Given the description of an element on the screen output the (x, y) to click on. 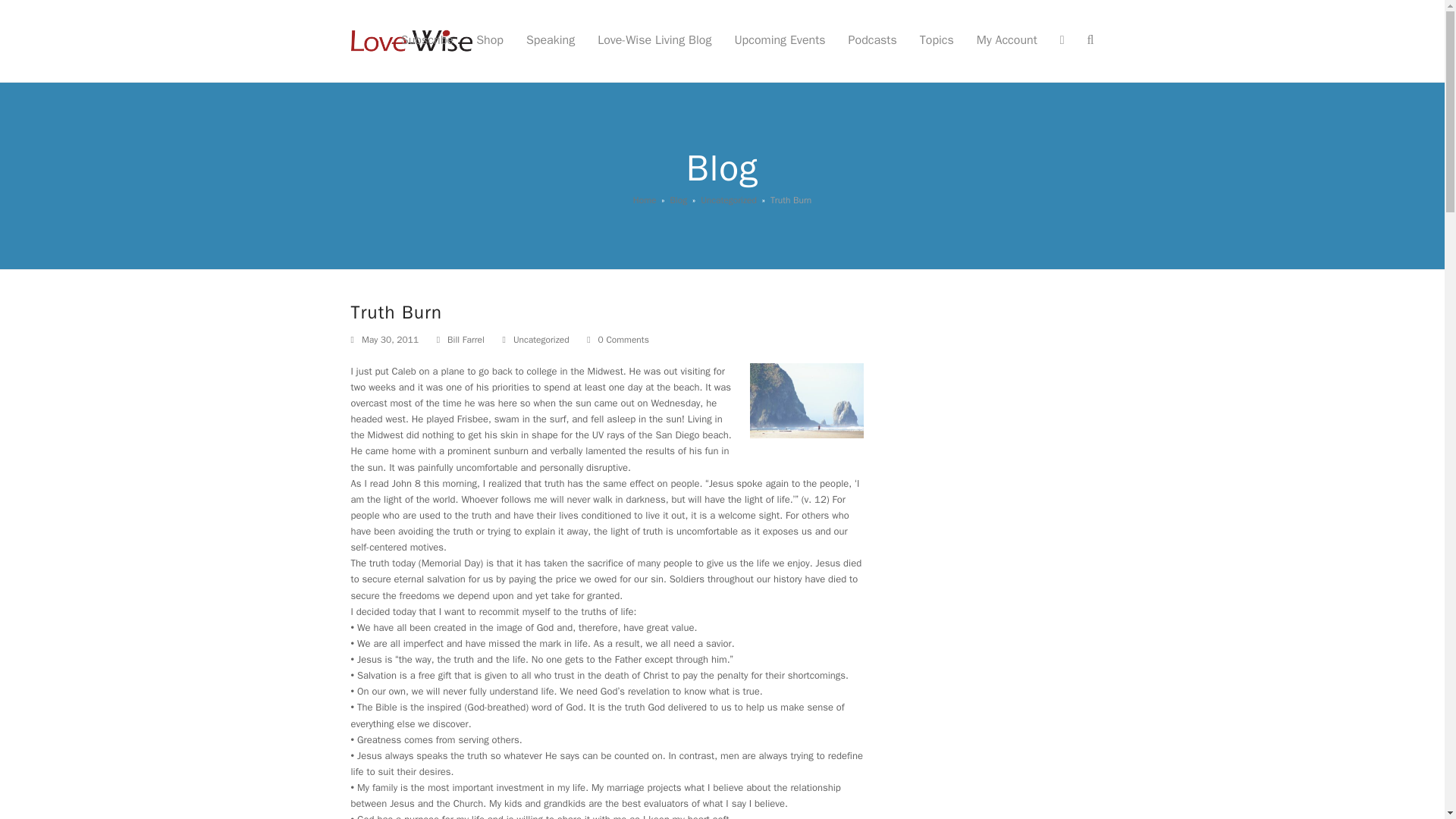
Topics (936, 40)
Blog (678, 200)
Uncategorized (541, 339)
0 Comments (623, 339)
Speaking (550, 40)
Upcoming Events (778, 40)
Posts by Bill Farrel (465, 339)
Uncategorized (728, 200)
Subscribe (427, 40)
Shop (489, 40)
